Given the description of an element on the screen output the (x, y) to click on. 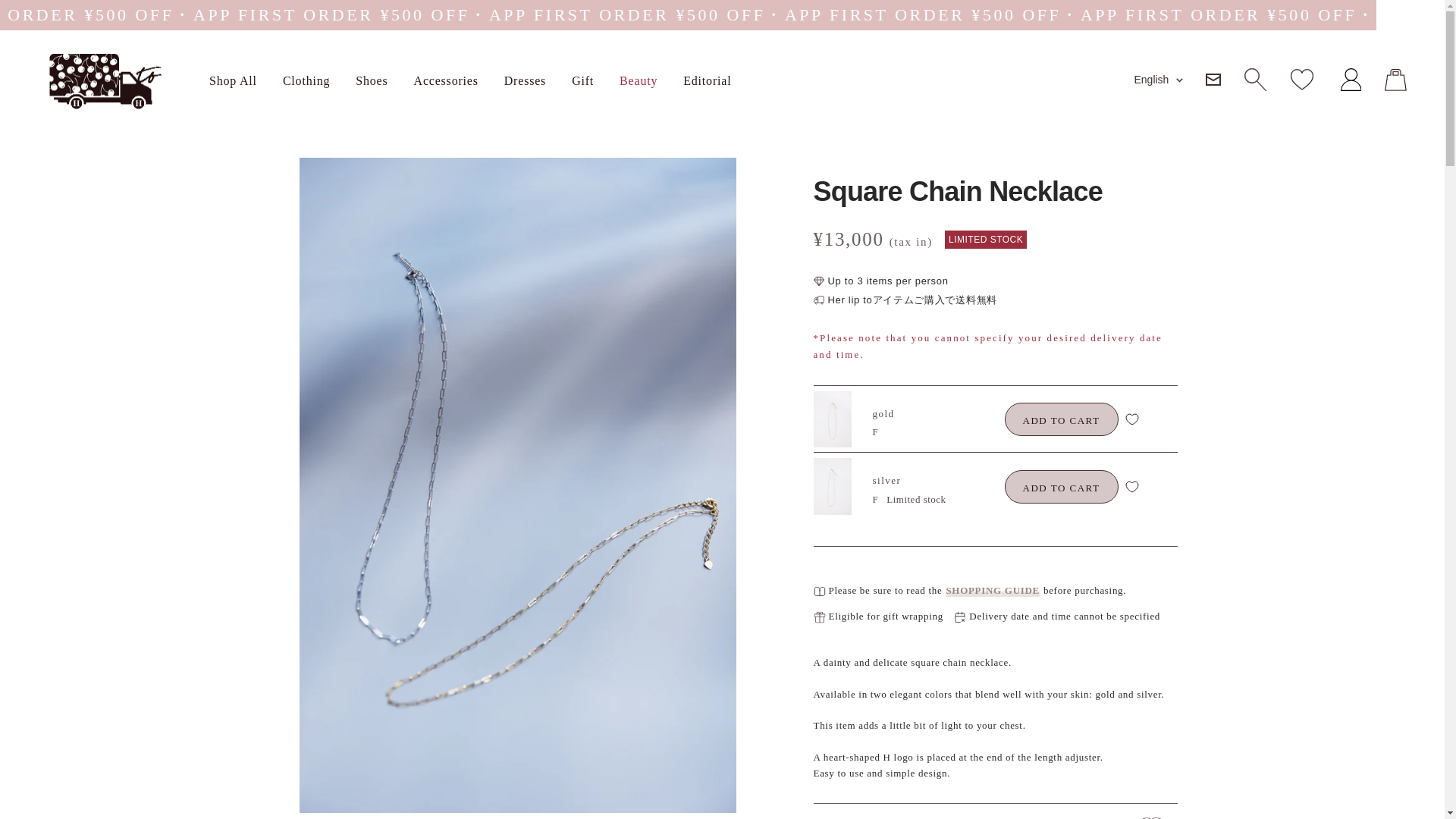
Beauty (639, 81)
Add to Wishlist (1131, 418)
Shop All (233, 81)
ADD TO CART (1061, 418)
English (1158, 79)
Clothing (306, 81)
ADD TO CART (1061, 486)
en (1155, 160)
Editorial (706, 81)
Newsletter (1213, 79)
Dresses (524, 81)
Gift (583, 81)
Her lip to (102, 81)
Add to Wishlist (1131, 486)
Accessories (446, 81)
